Given the description of an element on the screen output the (x, y) to click on. 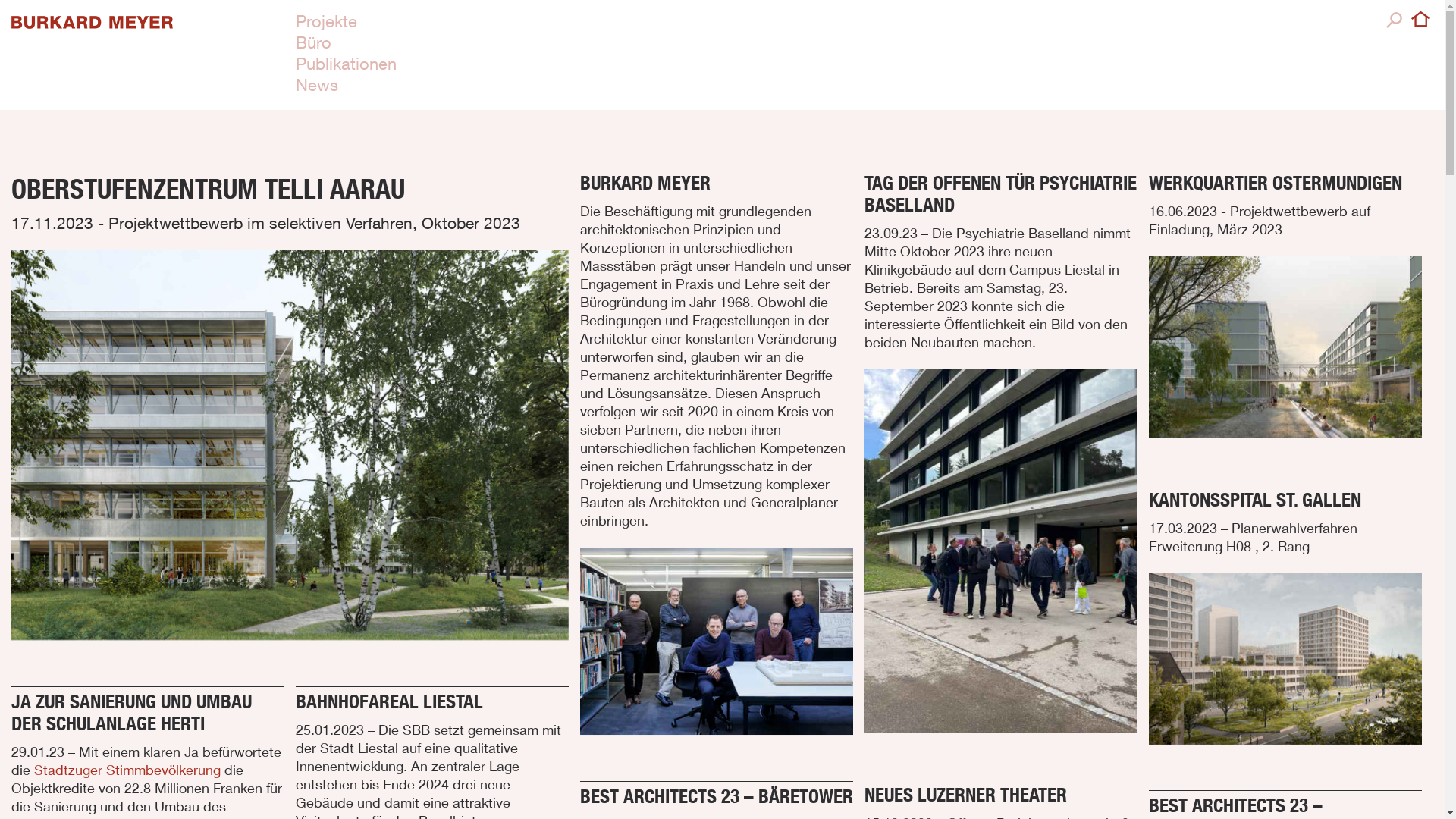
Publikationen Element type: text (345, 63)
Projekte Element type: text (326, 21)
Home Element type: text (1422, 18)
News Element type: text (316, 84)
Suche Element type: text (1395, 19)
